Given the description of an element on the screen output the (x, y) to click on. 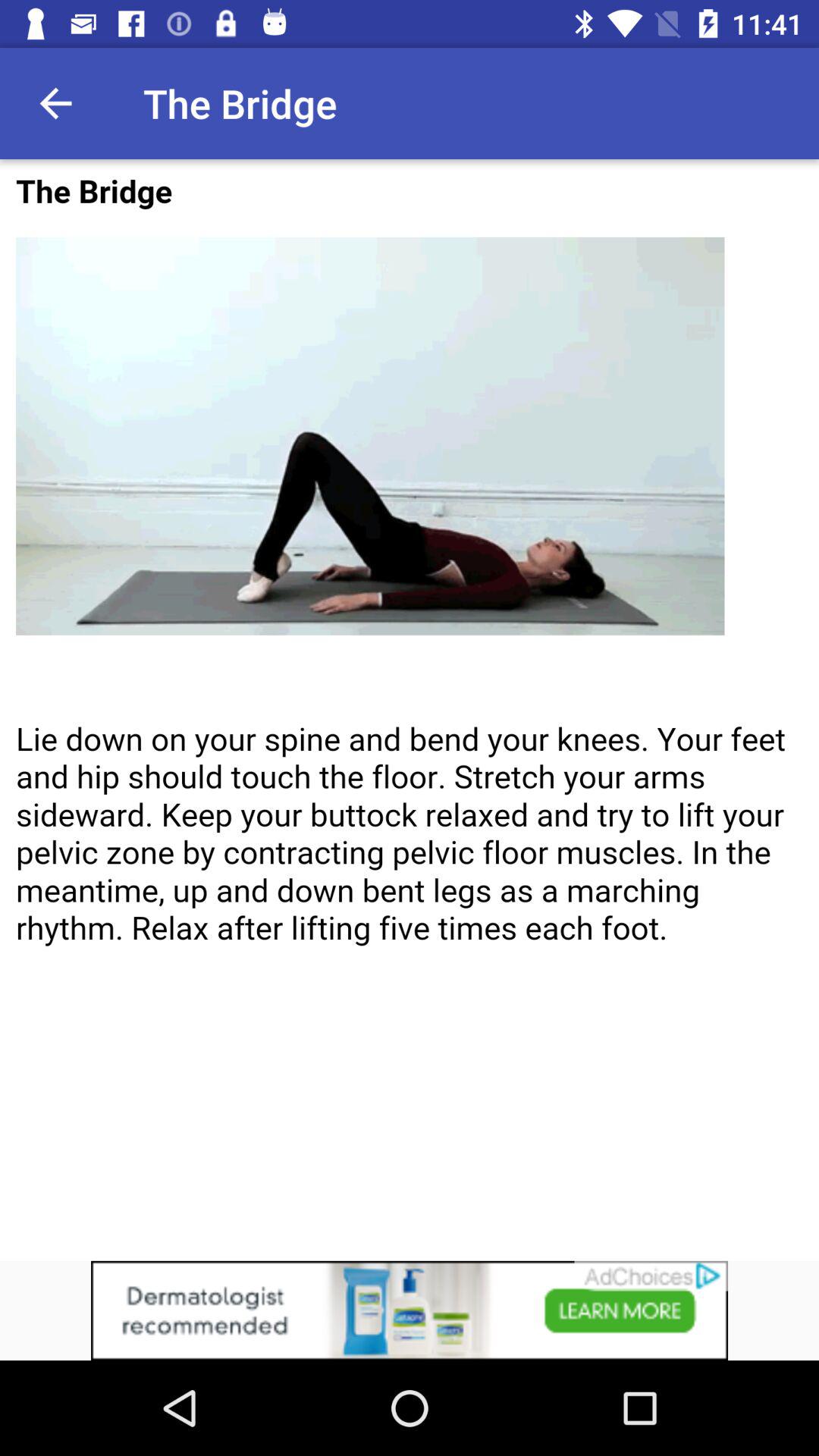
advertisement (409, 1310)
